Given the description of an element on the screen output the (x, y) to click on. 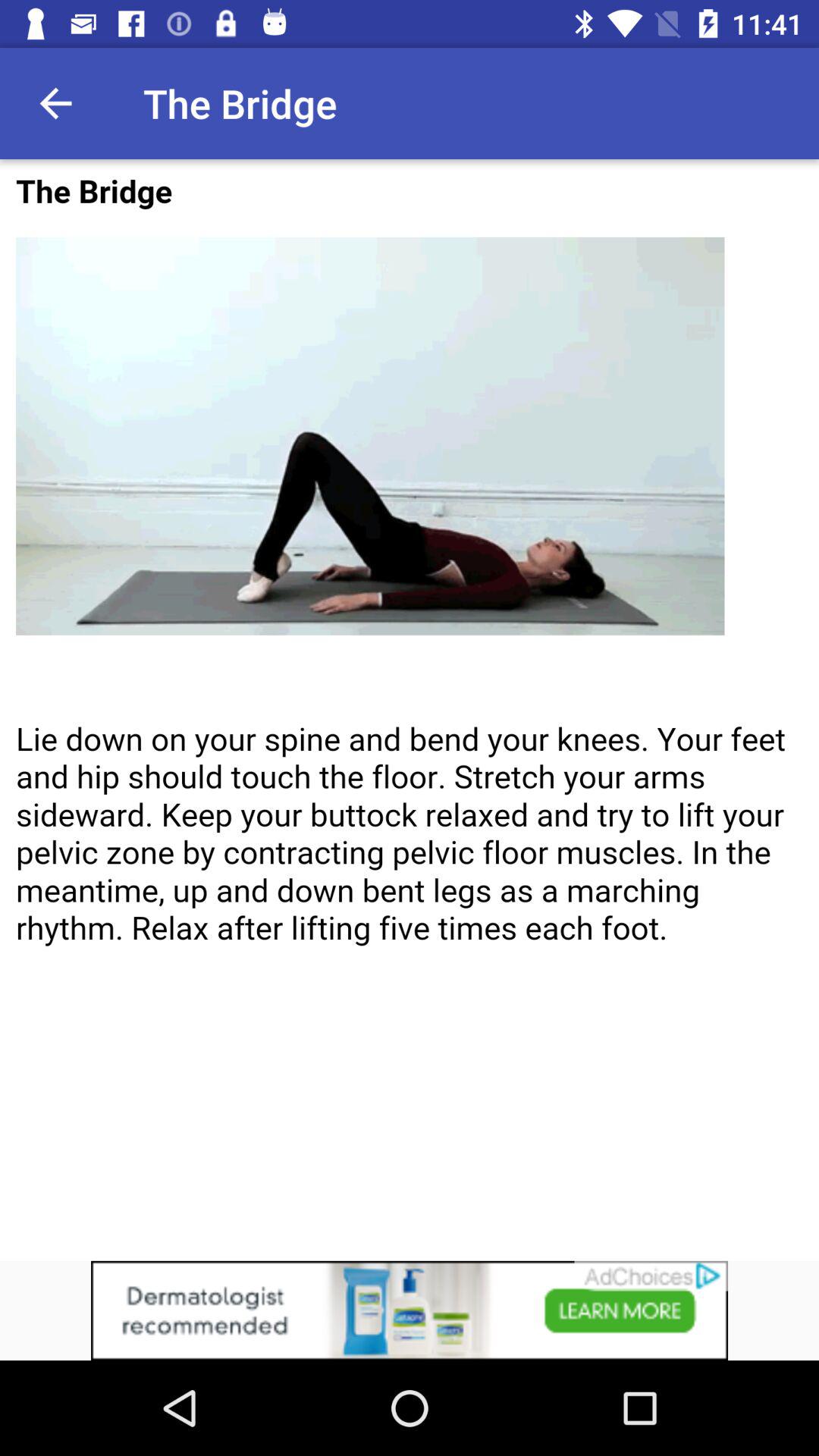
advertisement (409, 1310)
